Given the description of an element on the screen output the (x, y) to click on. 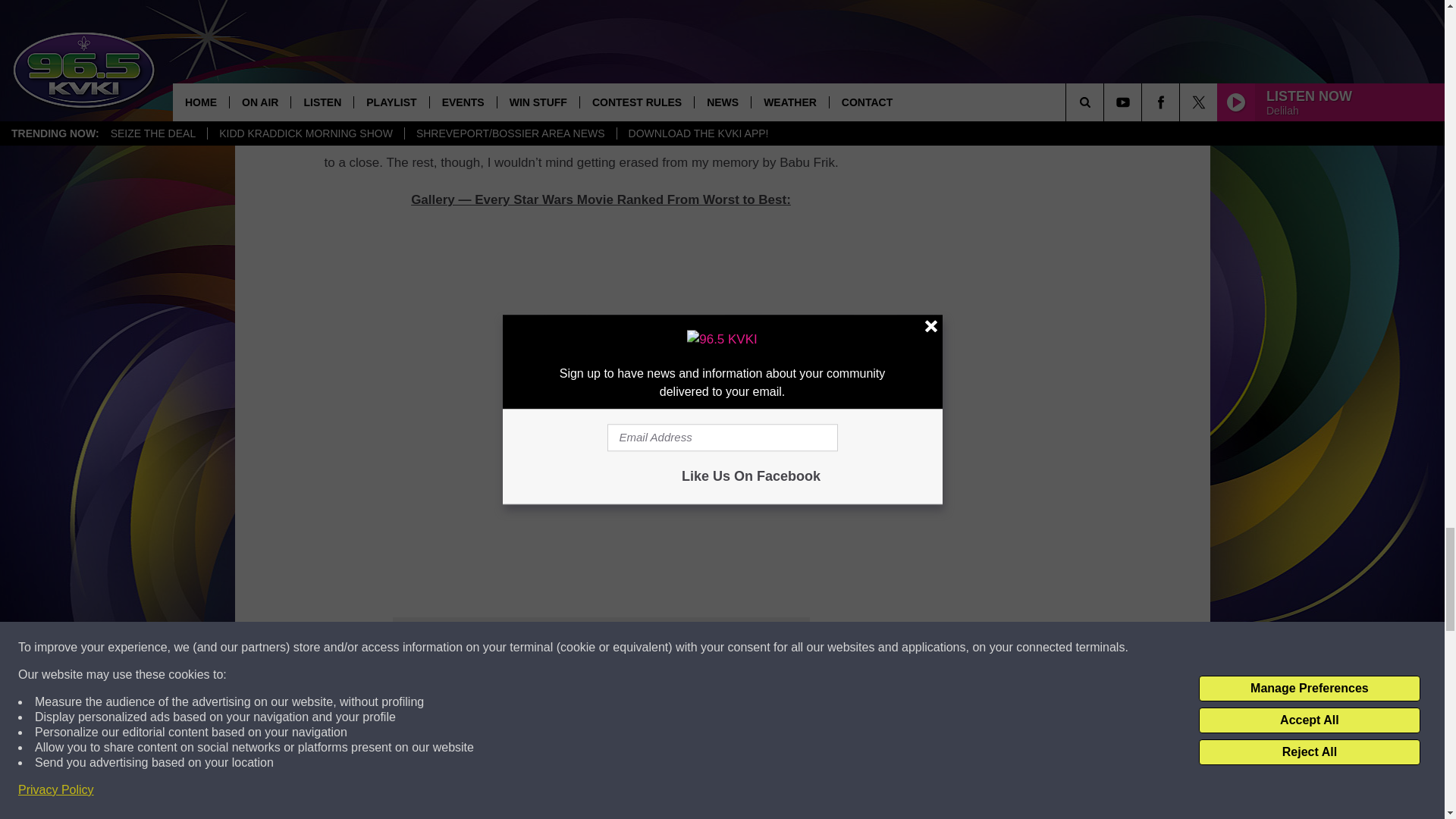
Email Address (600, 664)
